Given the description of an element on the screen output the (x, y) to click on. 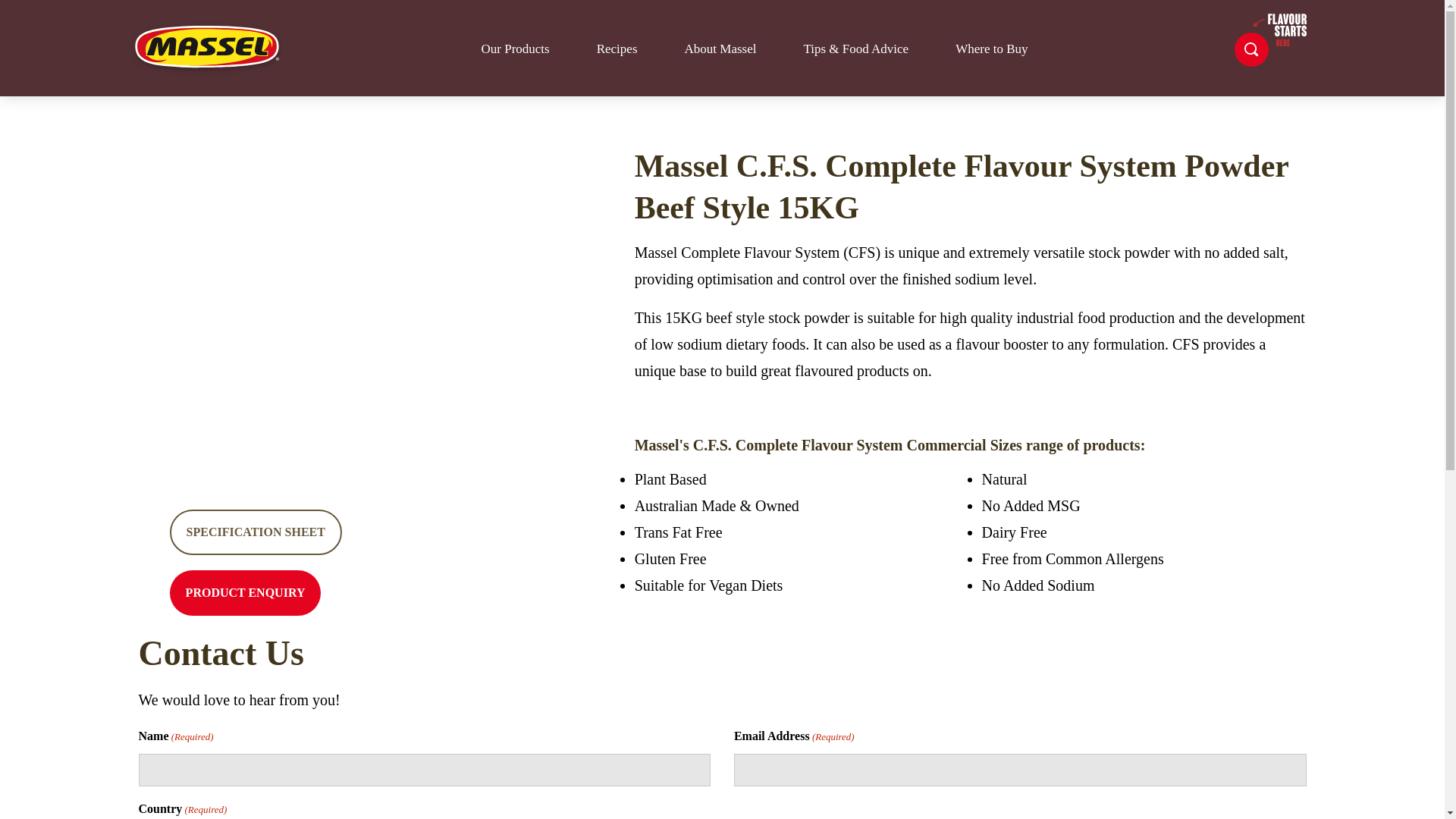
Our Products (514, 48)
Recipes (617, 48)
PRODUCT ENQUIRY (245, 592)
Where to Buy (991, 48)
SPECIFICATION SHEET (256, 532)
About Massel (720, 48)
PRODUCT ENQUIRY (245, 592)
